Given the description of an element on the screen output the (x, y) to click on. 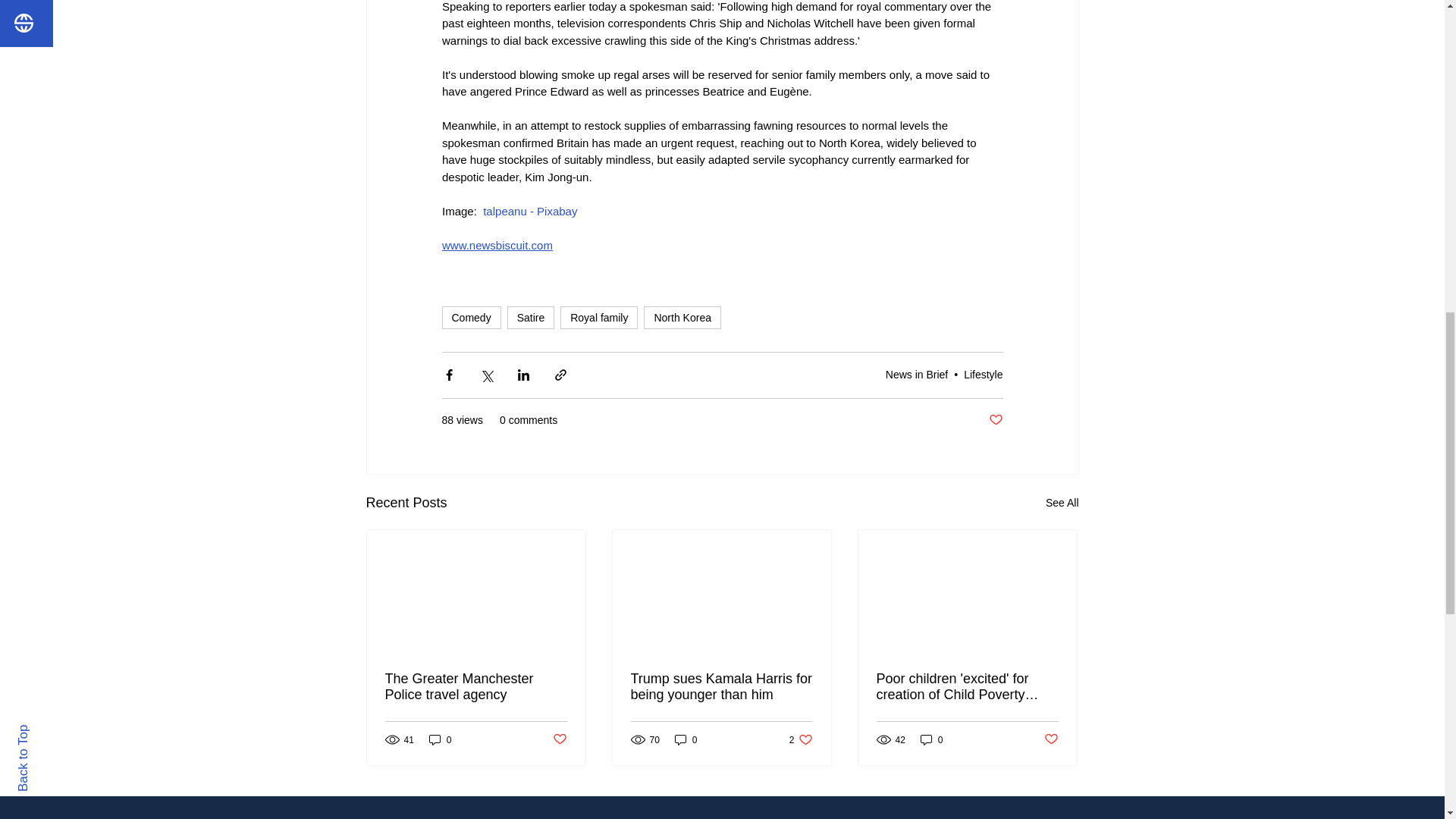
talpeanu - Pixabay (529, 210)
